Given the description of an element on the screen output the (x, y) to click on. 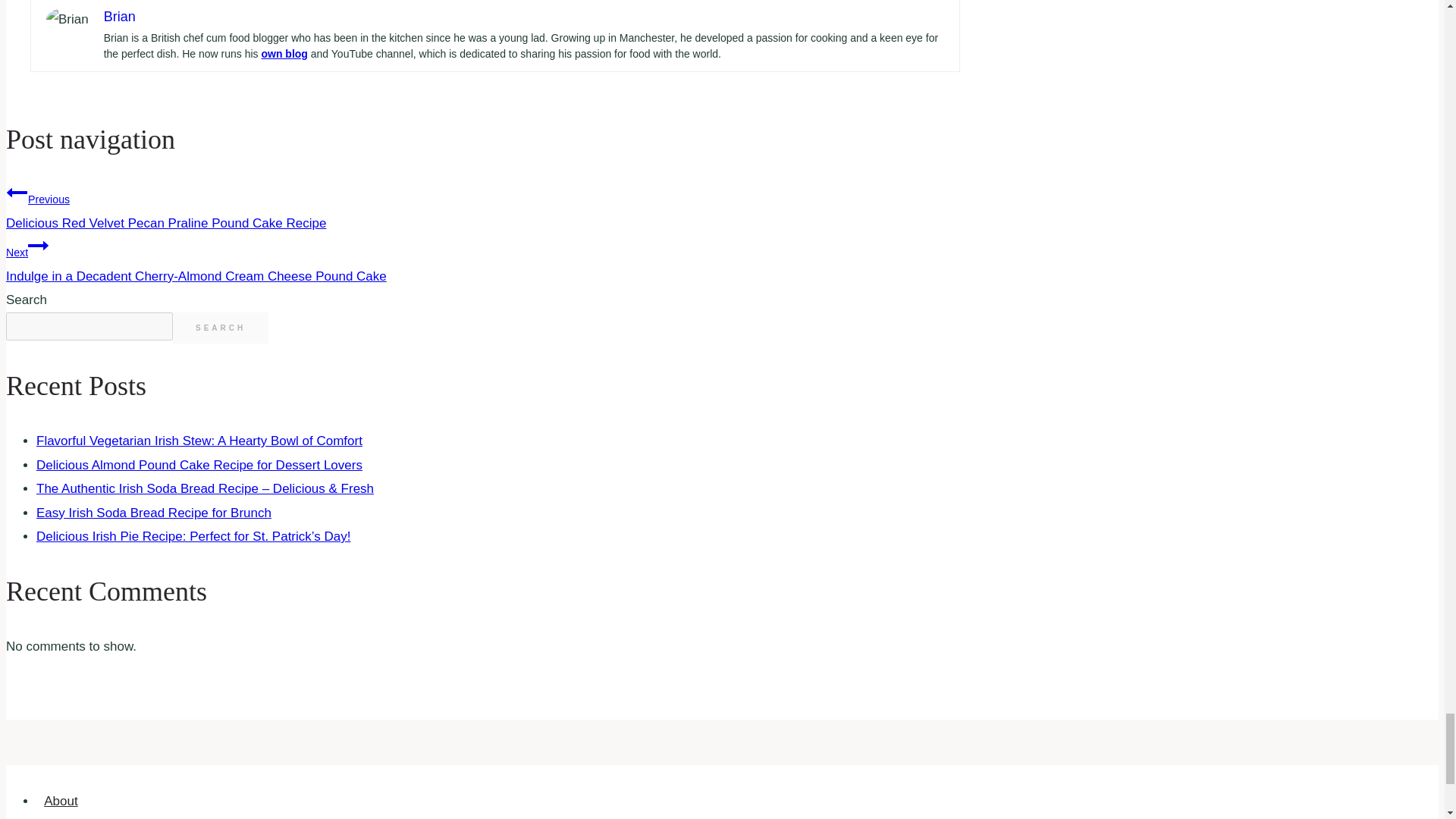
Previous (16, 192)
Continue (37, 245)
